Given the description of an element on the screen output the (x, y) to click on. 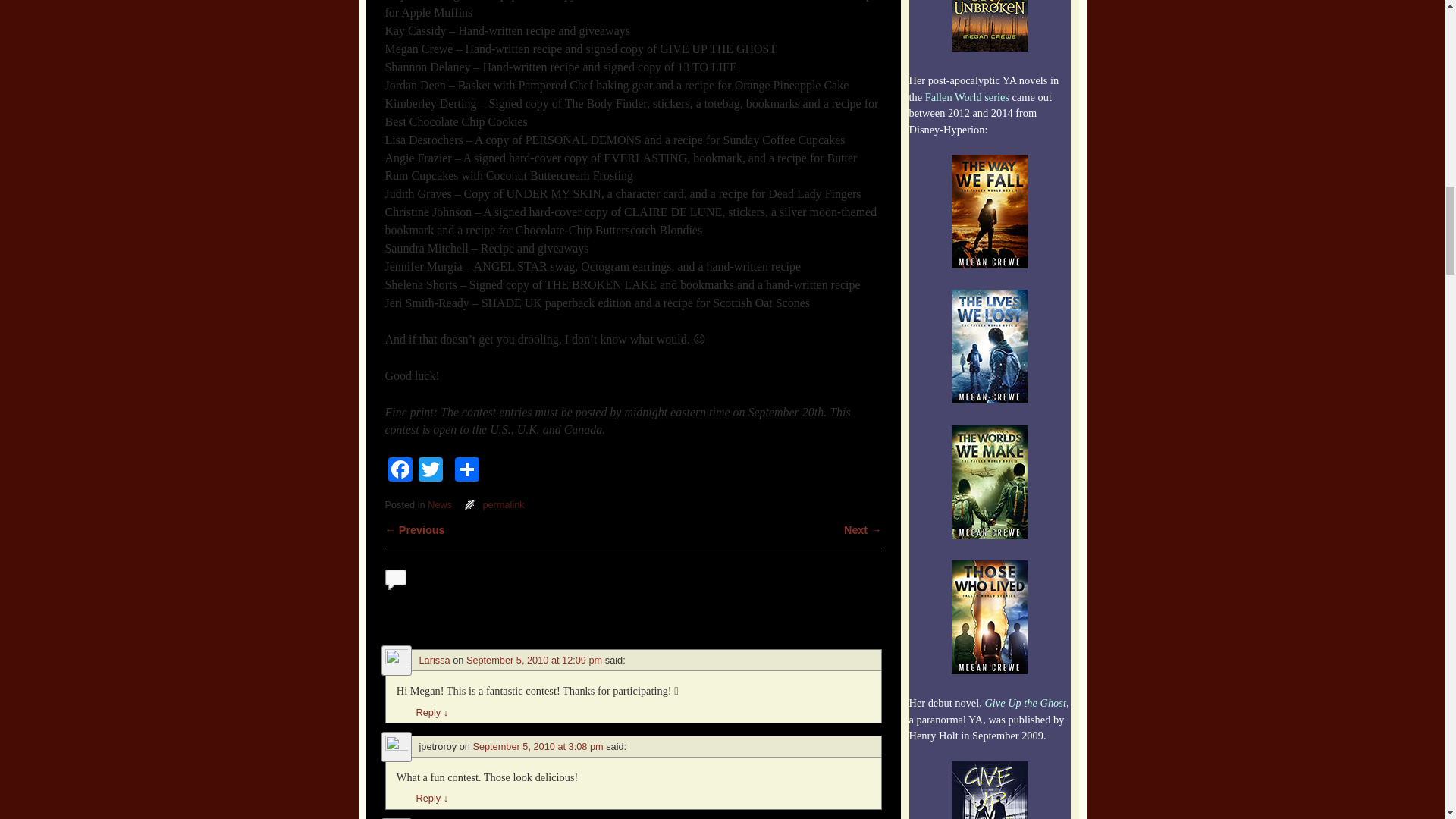
September 5, 2010 at 12:09 pm (533, 659)
Facebook (399, 471)
Twitter (429, 471)
Permalink to The Great YA Bake Sale of 2010! (502, 504)
Twitter (429, 471)
Facebook (399, 471)
September 5, 2010 at 3:08 pm (536, 746)
Larissa (434, 659)
permalink (502, 504)
News (439, 504)
